Given the description of an element on the screen output the (x, y) to click on. 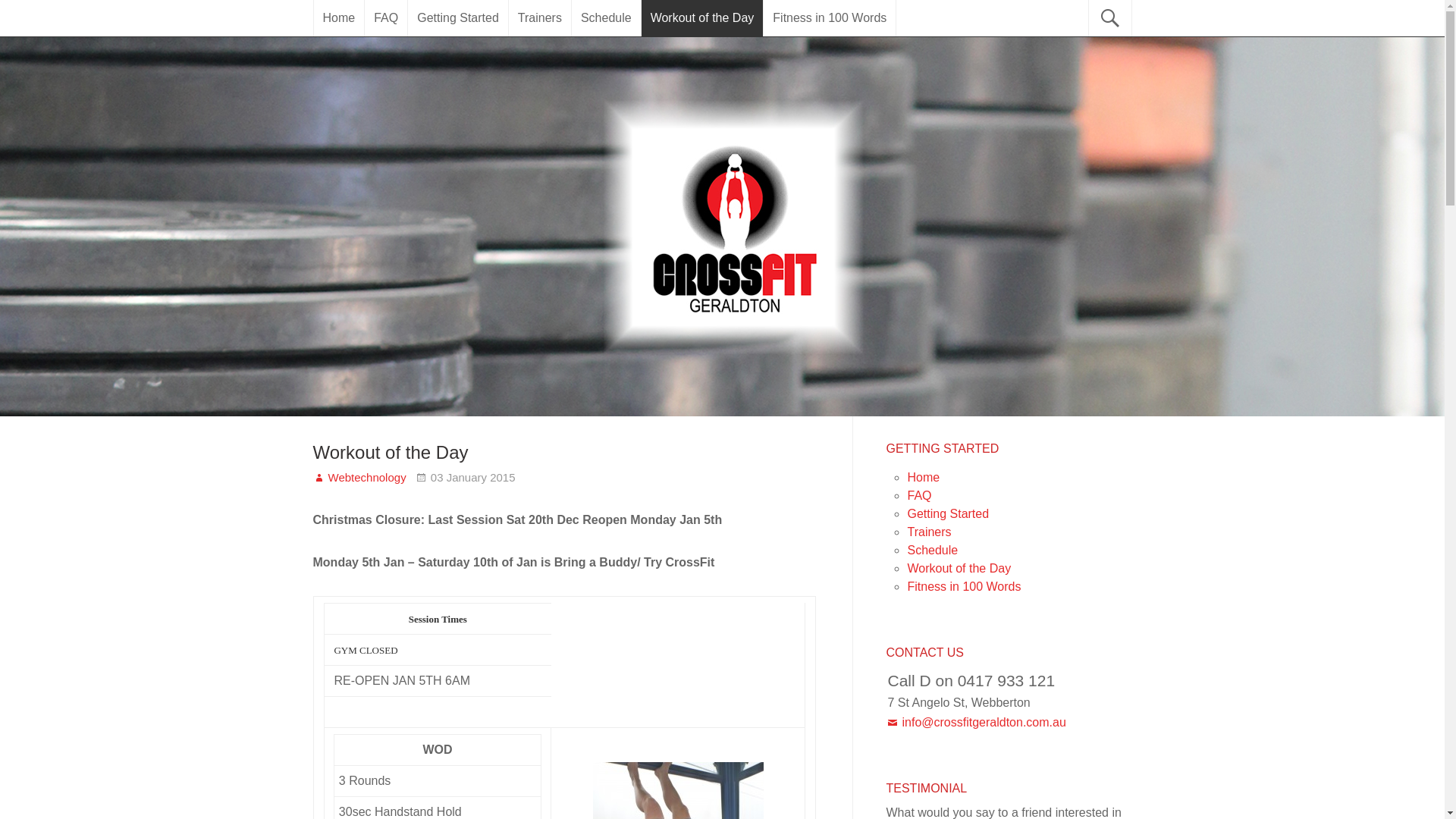
Home Element type: text (922, 476)
FAQ Element type: text (918, 495)
FAQ Element type: text (385, 18)
Home Element type: text (338, 18)
Workout of the Day Element type: text (958, 567)
Getting Started Element type: text (457, 18)
Workout of the Day Element type: text (702, 18)
Schedule Element type: text (605, 18)
Trainers Element type: text (928, 531)
Workout of the Day Element type: text (389, 452)
Search Element type: text (21, 18)
info@crossfitgeraldton.com.au Element type: text (975, 721)
Fitness in 100 Words Element type: text (829, 18)
Webtechnology Element type: text (358, 477)
Getting Started Element type: text (947, 513)
Fitness in 100 Words Element type: text (963, 586)
Schedule Element type: text (931, 549)
Trainers Element type: text (539, 18)
